Given the description of an element on the screen output the (x, y) to click on. 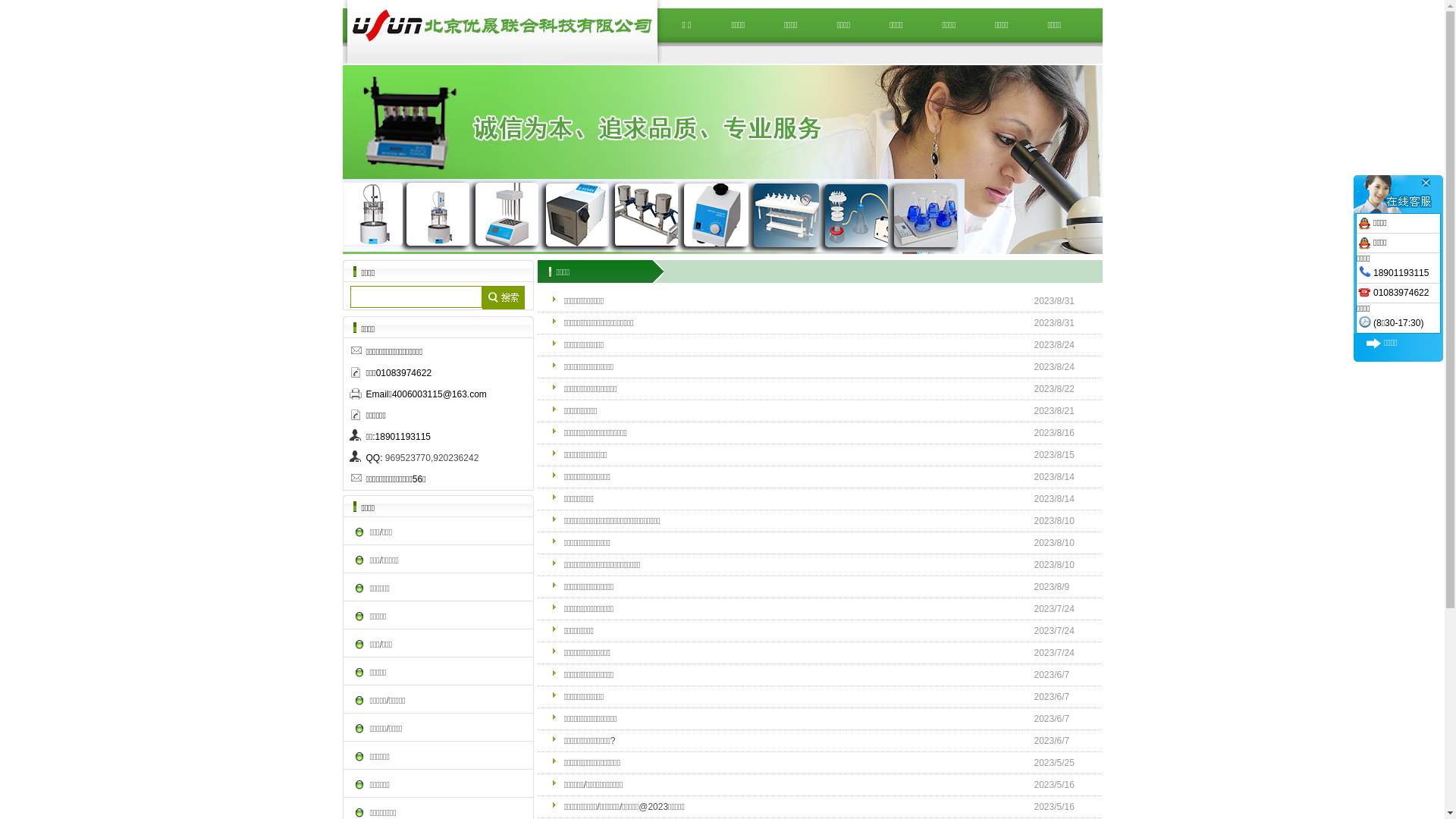
969523770,920236242 Element type: text (431, 457)
